Given the description of an element on the screen output the (x, y) to click on. 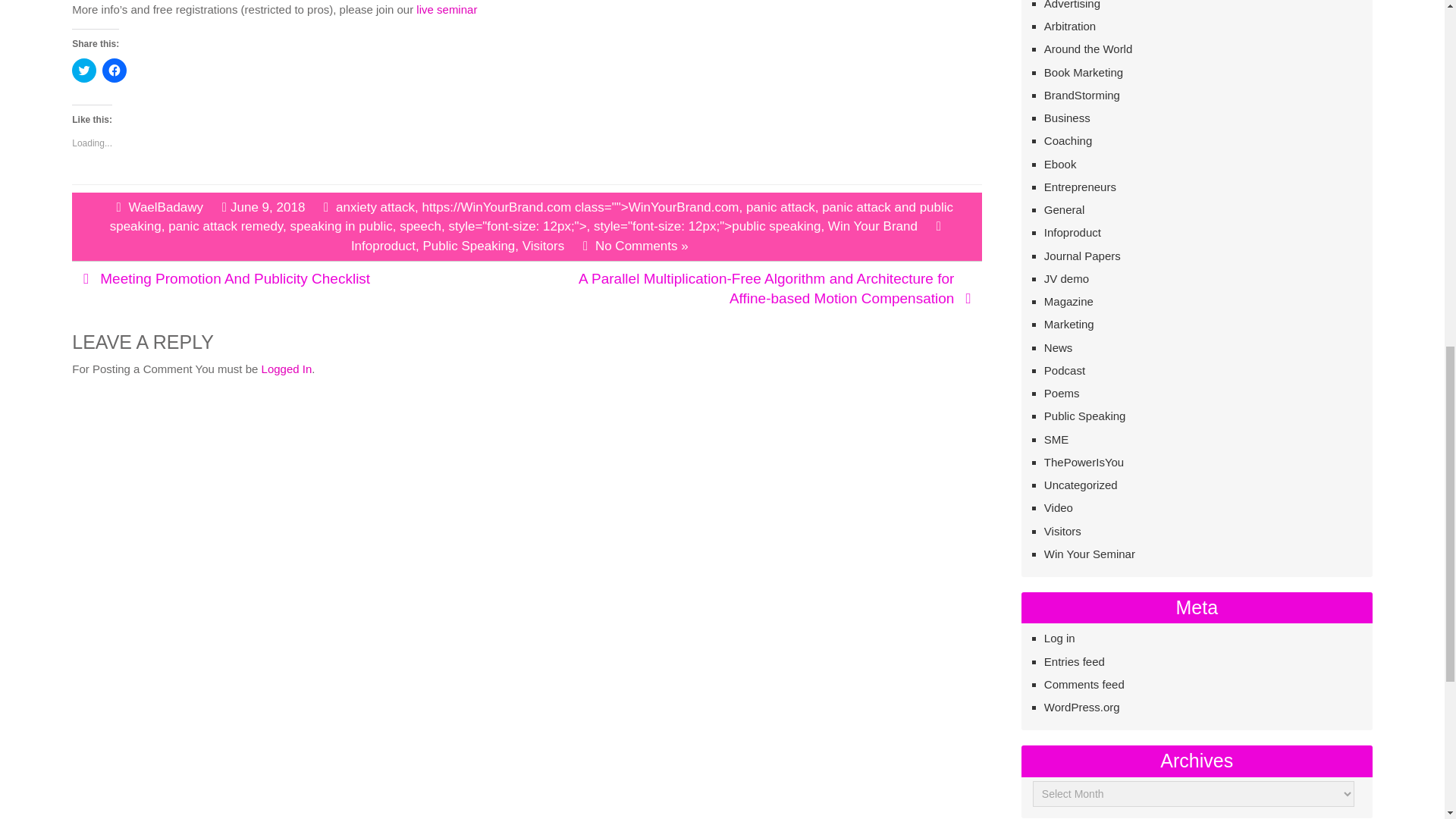
Click to share on Facebook (113, 70)
Posts by WaelBadawy (165, 206)
Click to share on Twitter (83, 70)
live seminar (446, 9)
